Given the description of an element on the screen output the (x, y) to click on. 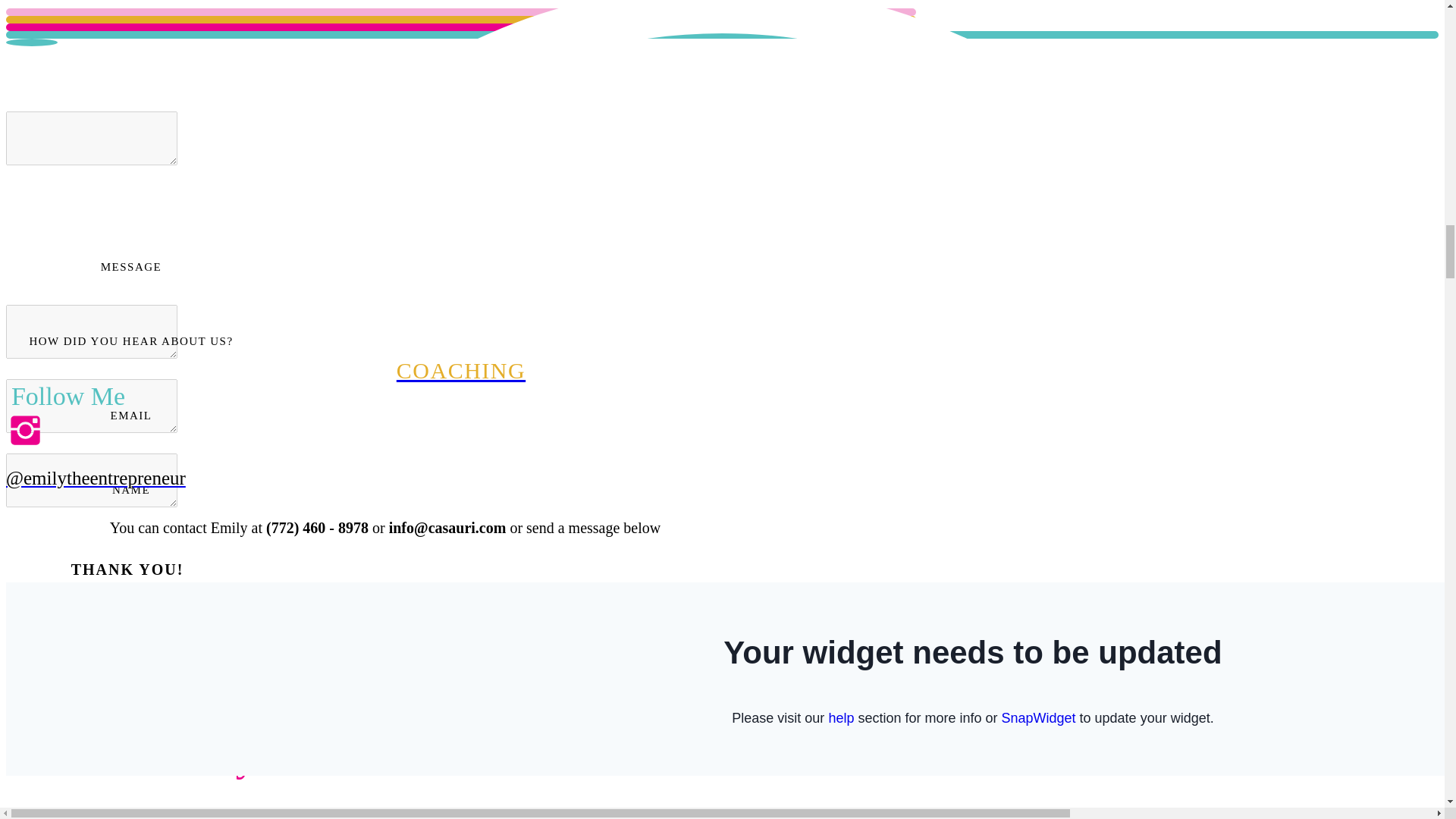
COACHING (460, 370)
